Given the description of an element on the screen output the (x, y) to click on. 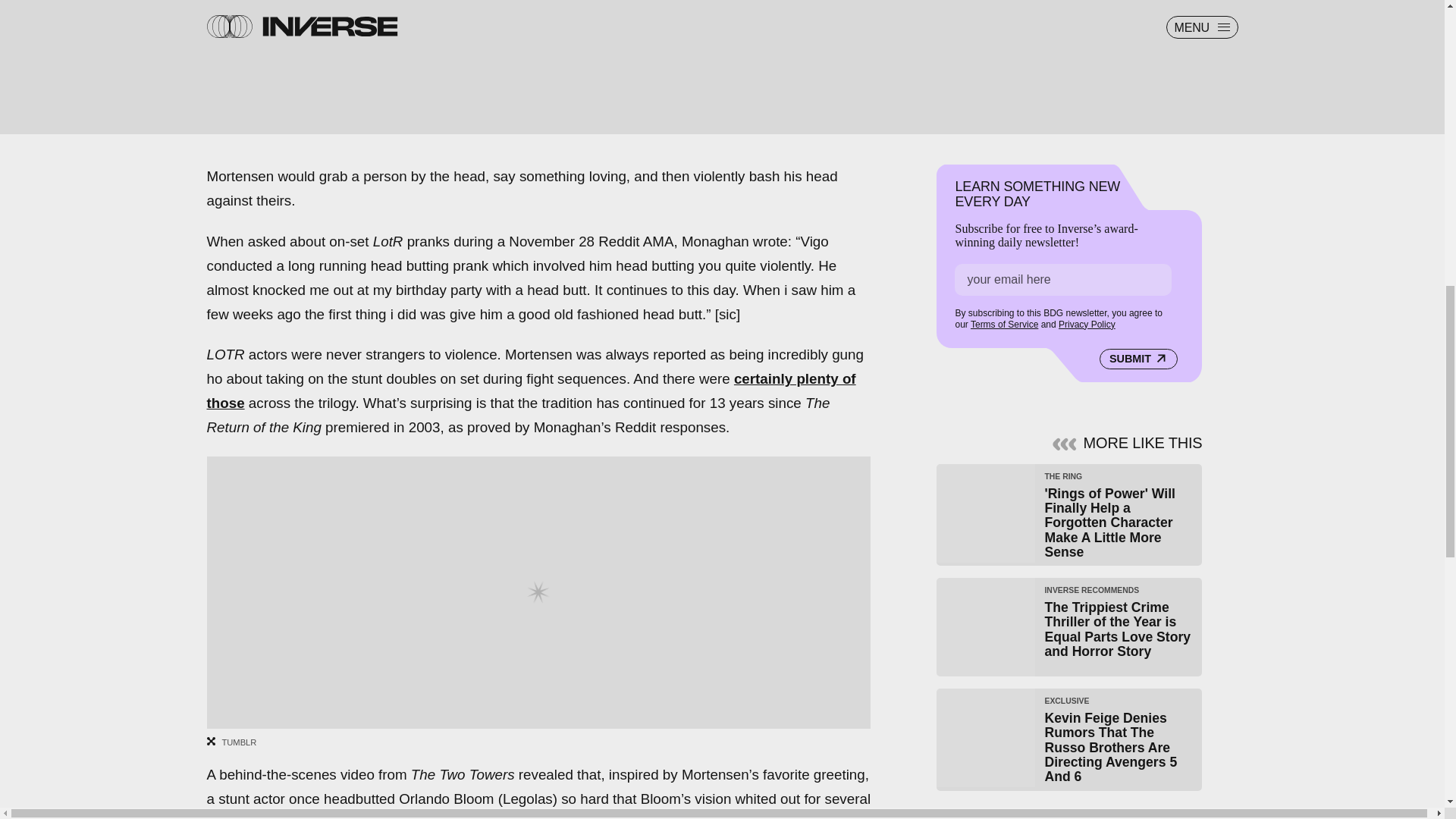
certainly plenty of those (531, 391)
Terms of Service (1004, 324)
SUBMIT (1138, 359)
Privacy Policy (1086, 324)
